Given the description of an element on the screen output the (x, y) to click on. 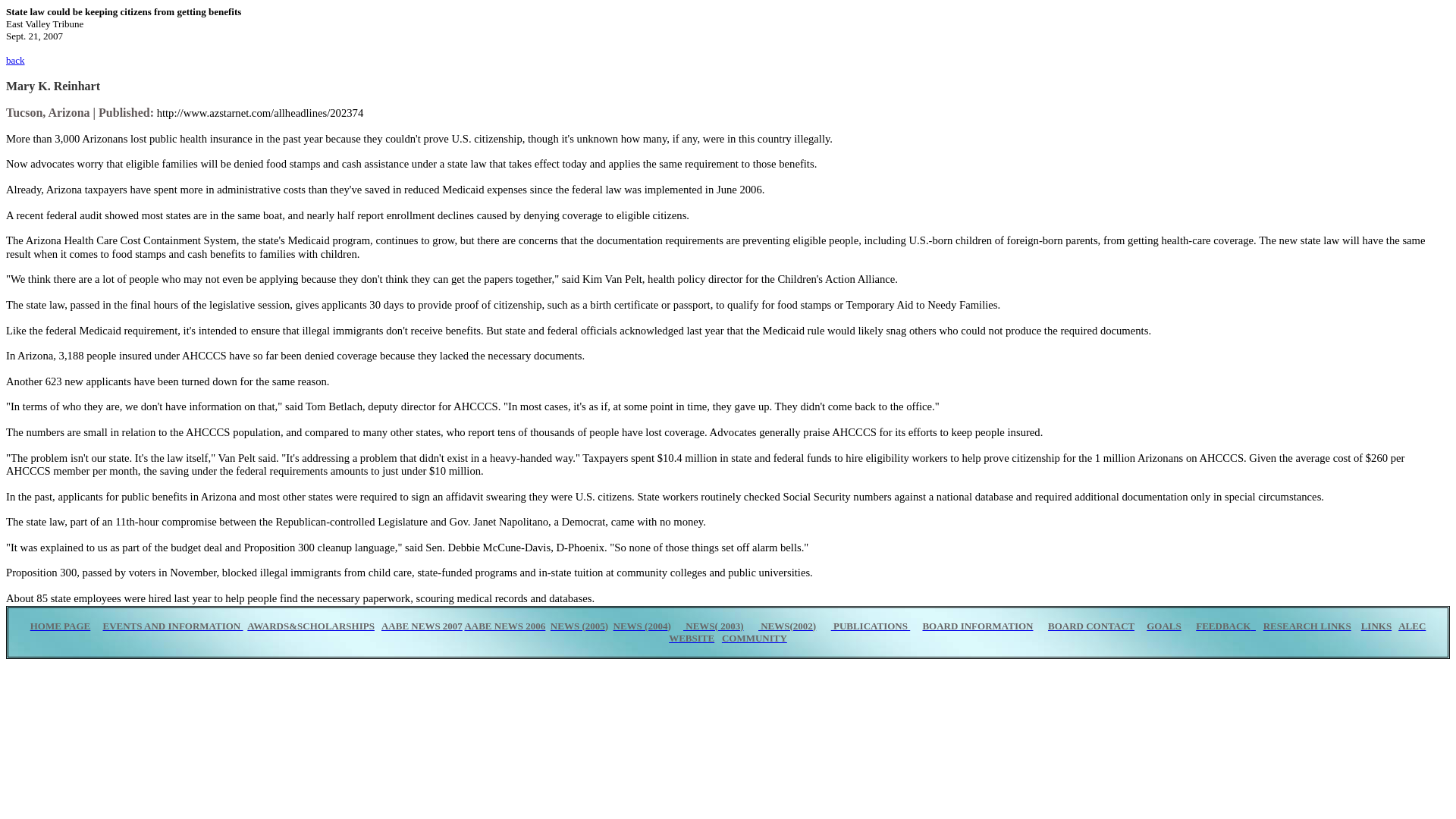
back (14, 60)
AABE NEWS 2007 (422, 625)
 PUBLICATIONS (871, 625)
BOARD CONTACT (1091, 625)
LINKS (1376, 625)
FEEDBACK (1222, 625)
HOME PAGE (60, 625)
RESEARCH LINKS (1307, 625)
ALEC WEBSITE (1046, 631)
GOALS (1163, 625)
